Given the description of an element on the screen output the (x, y) to click on. 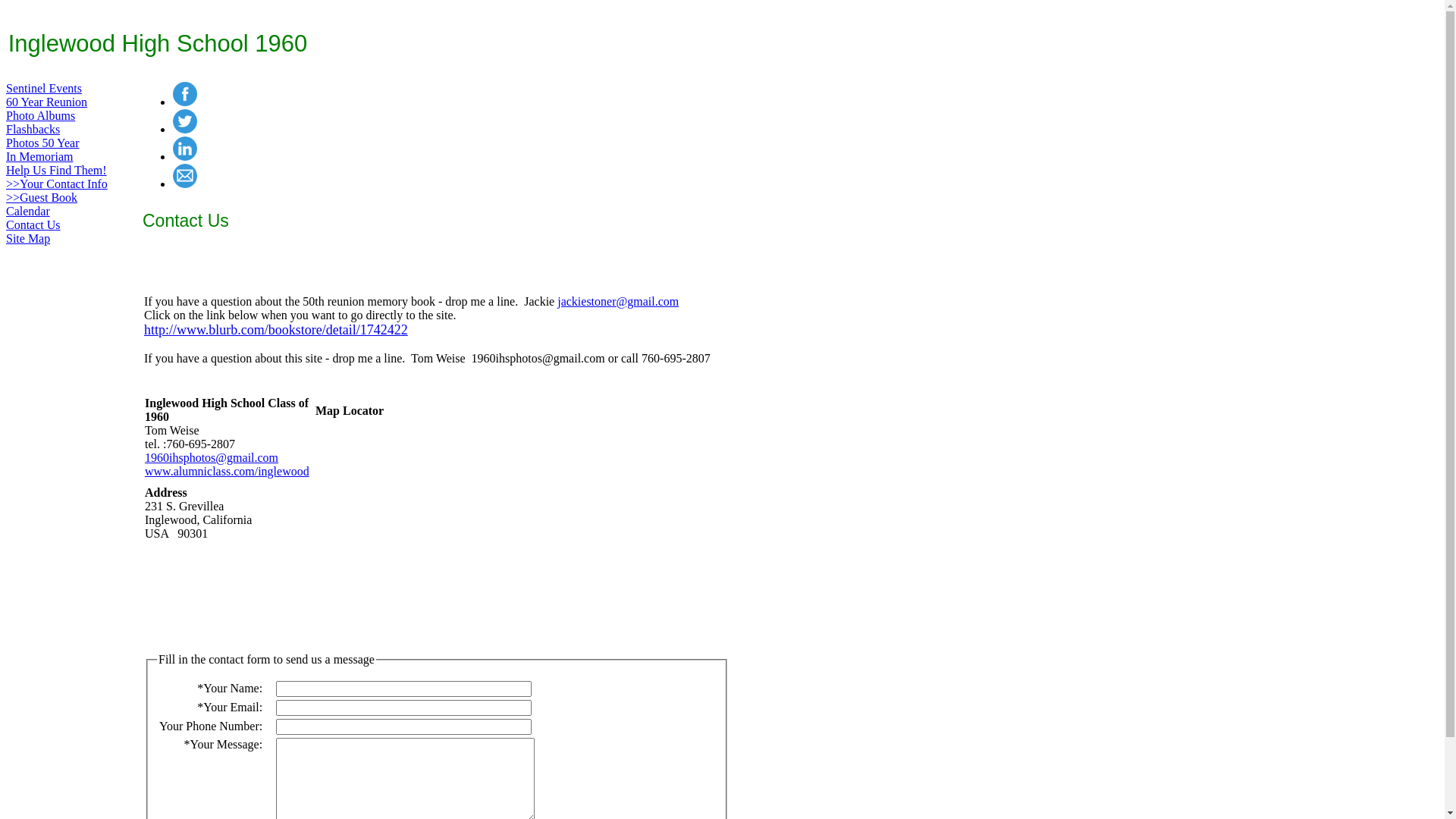
jackiestoner@gmail.com Element type: text (617, 300)
Sentinel Events Element type: text (43, 87)
Help Us Find Them! Element type: text (56, 169)
Photo Albums Element type: text (40, 115)
>>Your Contact Info Element type: text (56, 183)
Contact Us Element type: text (33, 224)
Photos 50 Year Element type: text (42, 142)
Flashbacks Element type: text (32, 128)
http://www.blurb.com/bookstore/detail/1742422 Element type: text (275, 329)
60 Year Reunion Element type: text (46, 101)
Calendar Element type: text (28, 210)
In Memoriam Element type: text (39, 156)
Site Map Element type: text (28, 238)
1960ihsphotos@gmail.com Element type: text (211, 457)
>>Guest Book Element type: text (41, 197)
www.alumniclass.com/inglewood Element type: text (226, 470)
